Given the description of an element on the screen output the (x, y) to click on. 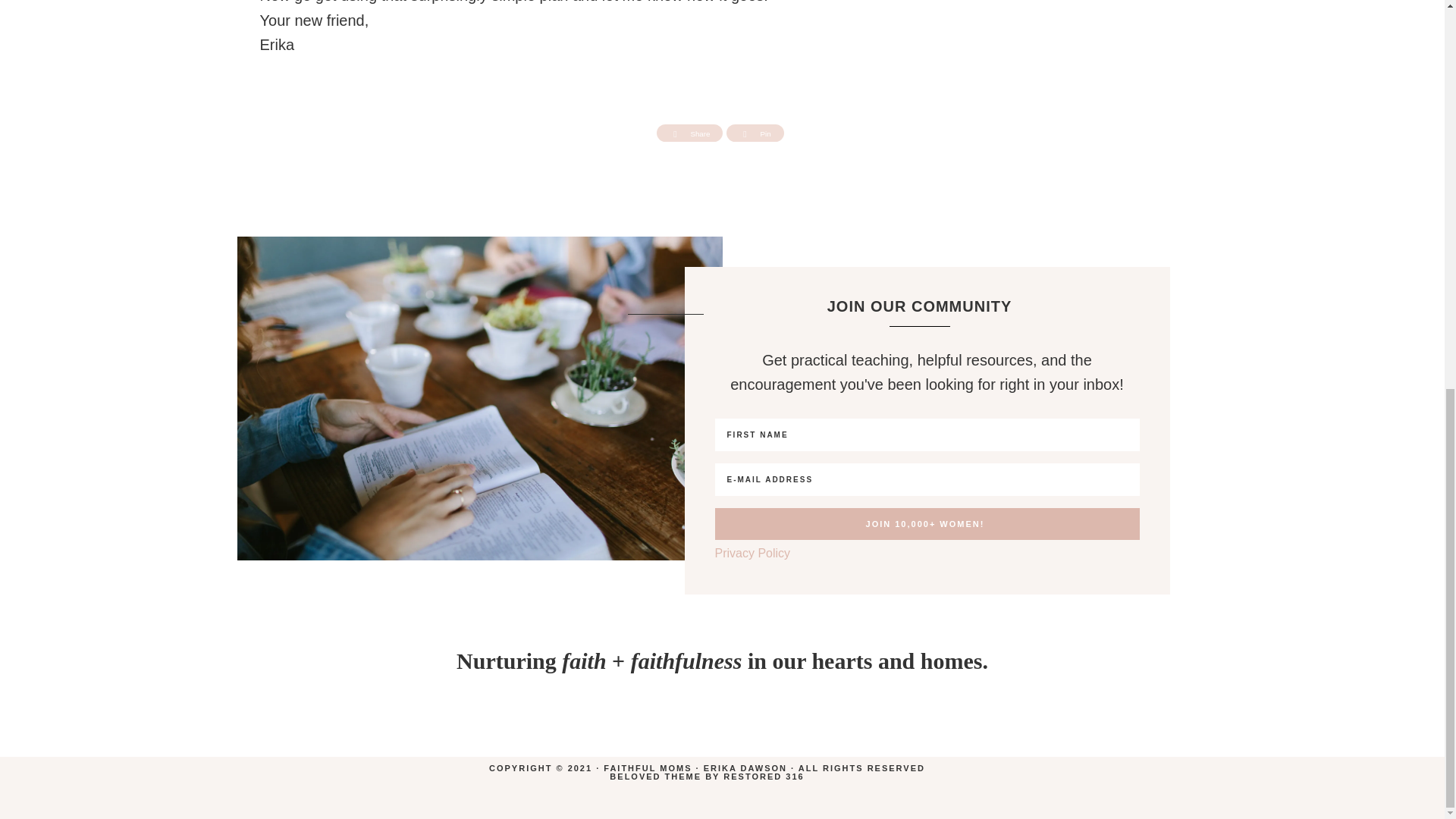
BELOVED THEME (655, 776)
Share (690, 133)
Pin (754, 133)
RESTORED 316 (763, 776)
Privacy Policy (752, 553)
